Given the description of an element on the screen output the (x, y) to click on. 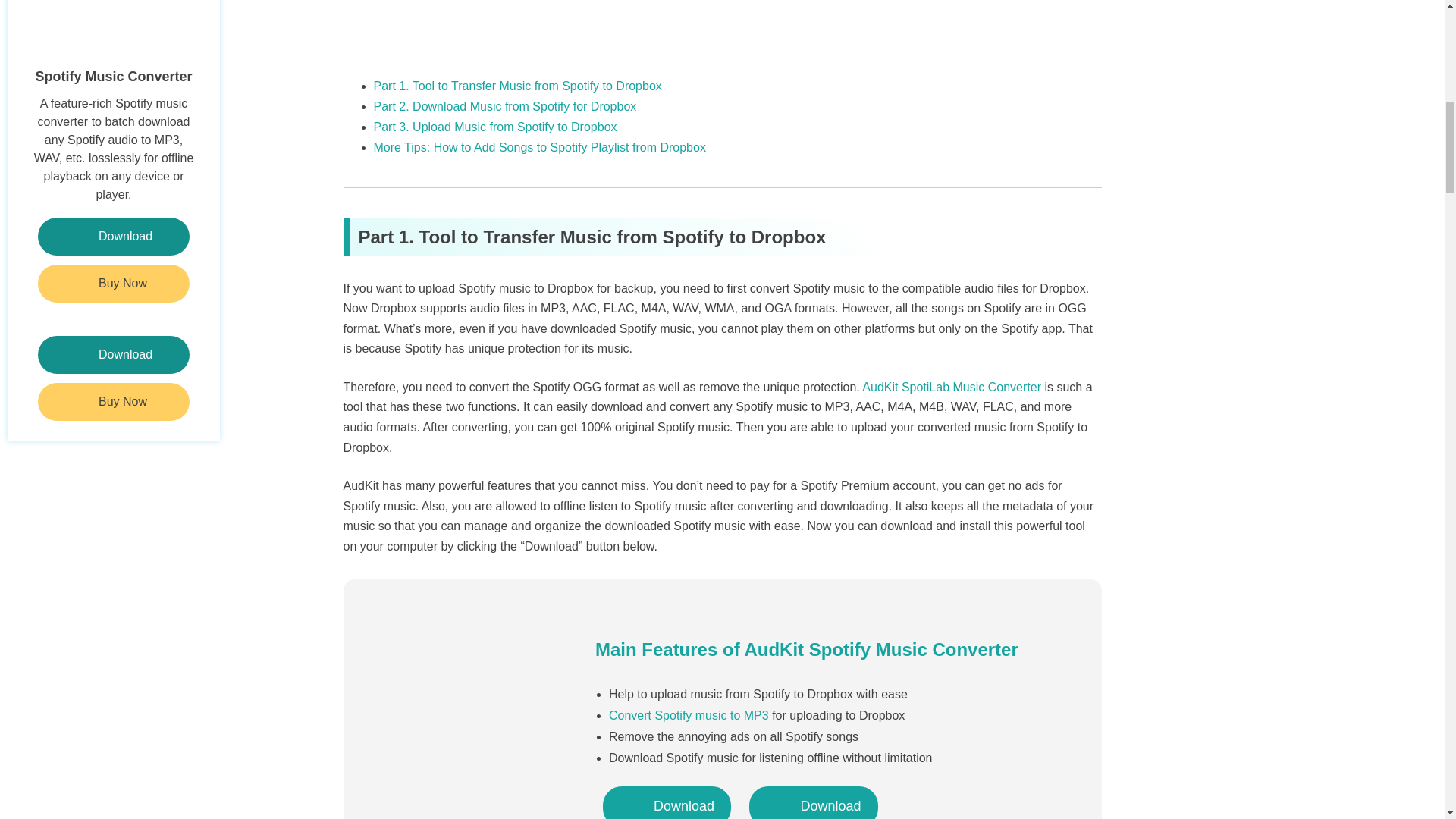
Download (113, 236)
Download (813, 802)
Download (113, 354)
Download (666, 802)
Main Features of AudKit Spotify Music Converter (806, 649)
Part 3. Upload Music from Spotify to Dropbox (493, 126)
Convert Spotify music to MP3 (688, 715)
AudKit SpotiLab Music Converter (951, 386)
More Tips: How to Add Songs to Spotify Playlist from Dropbox (538, 146)
Part 2. Download Music from Spotify for Dropbox (504, 106)
Buy Now (113, 401)
Part 1. Tool to Transfer Music from Spotify to Dropbox (516, 85)
Spotify Music Converter (113, 43)
Buy Now (113, 283)
